Given the description of an element on the screen output the (x, y) to click on. 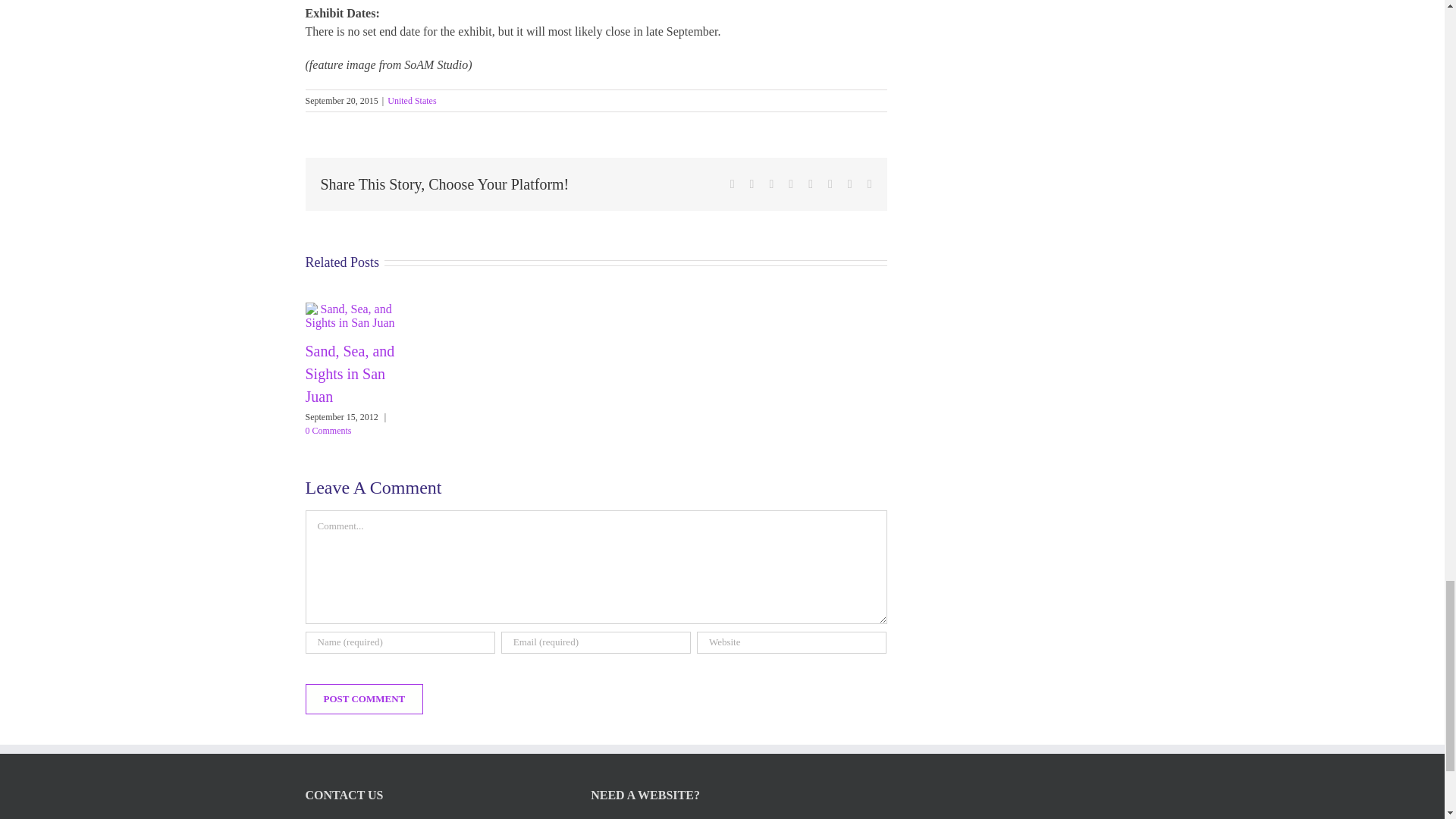
Sand, Sea, and Sights in San Juan (349, 373)
Sand, Sea, and Sights in San Juan (349, 373)
United States (411, 100)
Post Comment (363, 698)
Post Comment (363, 698)
0 Comments (327, 430)
